Given the description of an element on the screen output the (x, y) to click on. 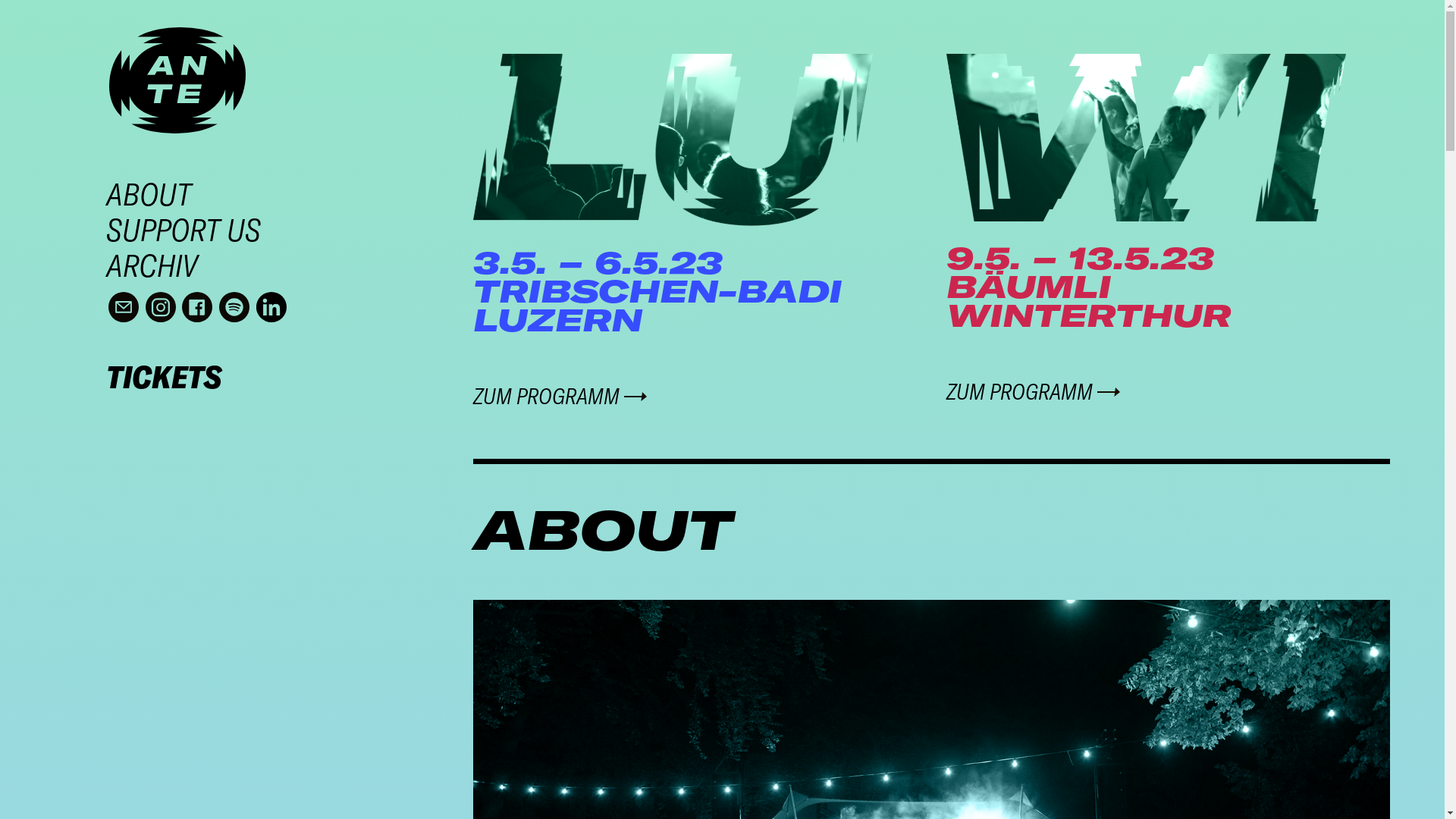
ABOUT Element type: text (289, 196)
Winterthur Element type: hover (1145, 137)
ARCHIV Element type: text (289, 267)
SUPPORT US Element type: text (289, 232)
Luzern Element type: hover (672, 139)
TICKETS Element type: text (163, 376)
